Given the description of an element on the screen output the (x, y) to click on. 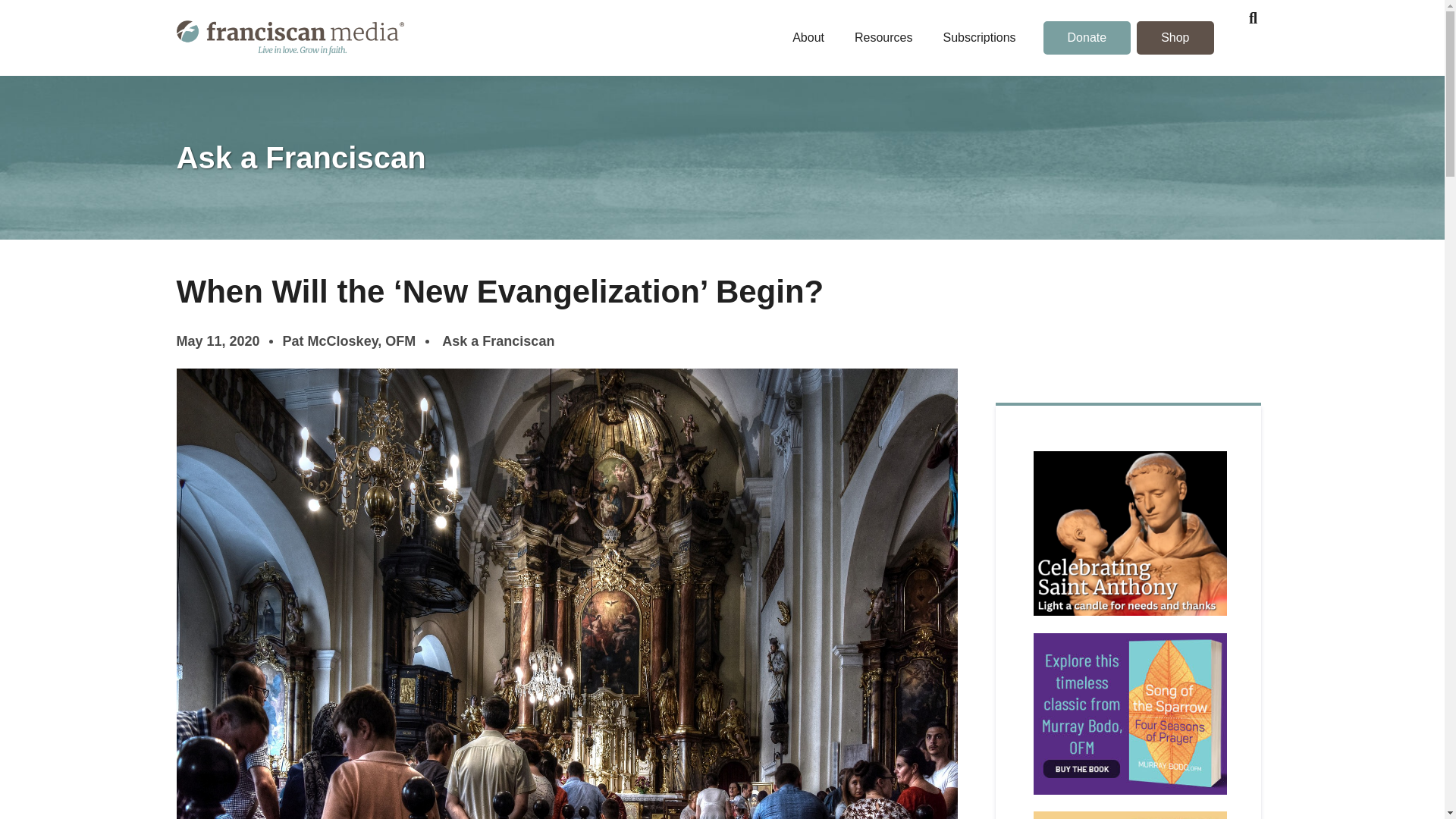
Donate (1087, 37)
Subscriptions (978, 38)
Shop (1174, 37)
Resources (883, 38)
